Given the description of an element on the screen output the (x, y) to click on. 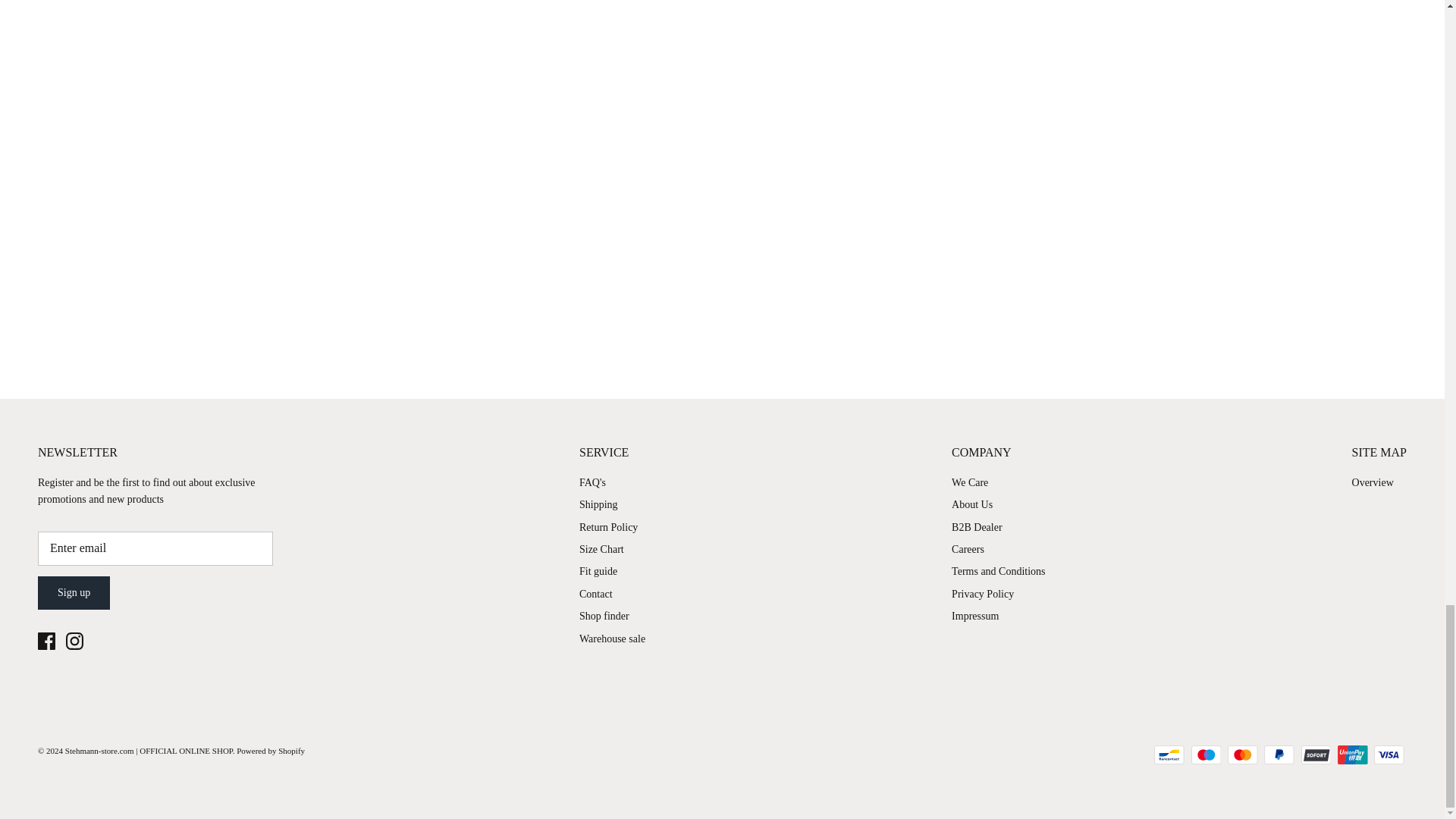
PayPal (1278, 754)
Union Pay (1352, 754)
Instagram (73, 641)
Mastercard (1242, 754)
Bancontact (1168, 754)
Maestro (1206, 754)
SOFORT (1315, 754)
Visa (1388, 754)
Facebook (46, 641)
